Given the description of an element on the screen output the (x, y) to click on. 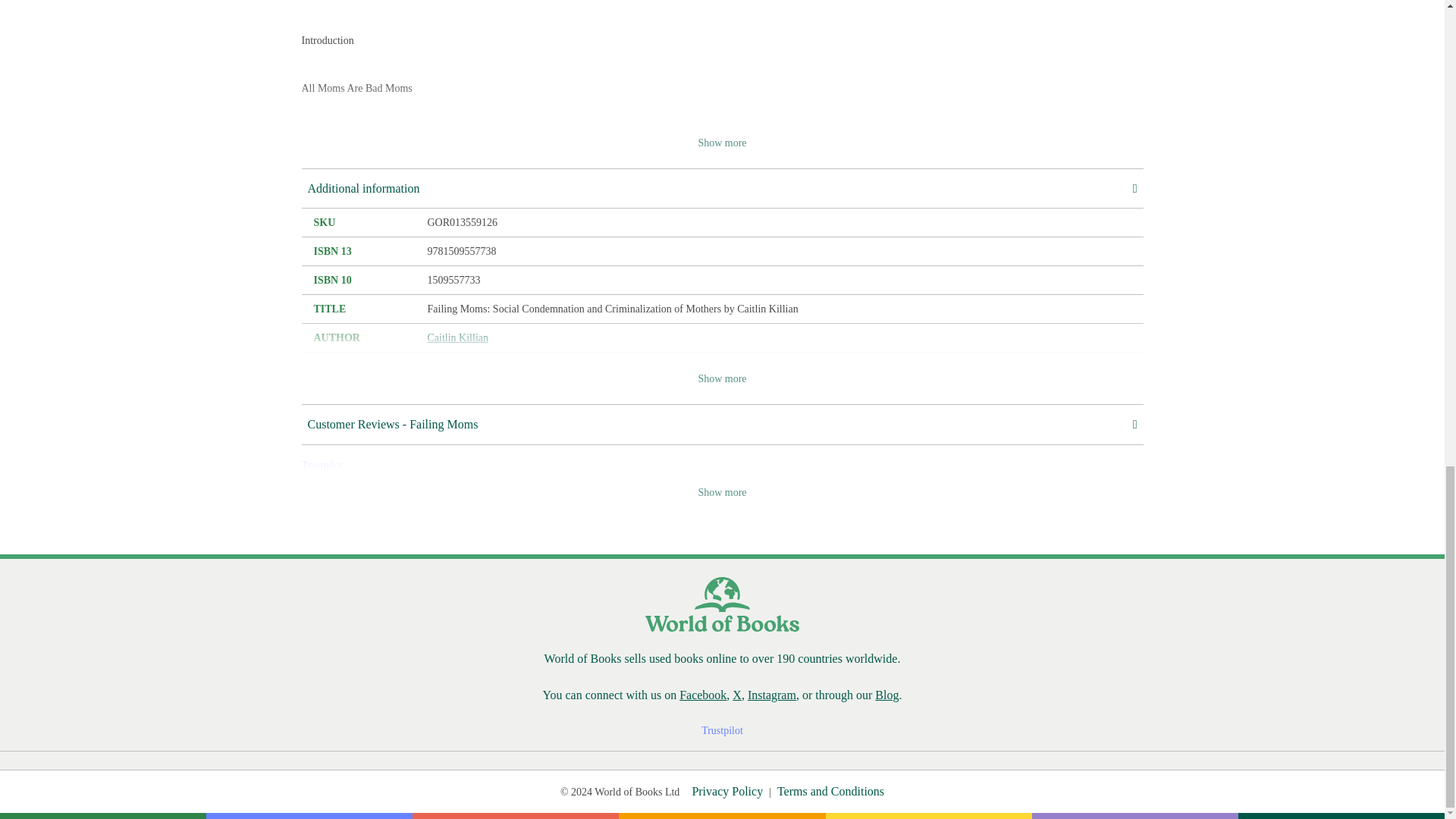
Show more (721, 378)
Caitlin Killian (458, 337)
Show more (721, 492)
Show more (721, 142)
Trustpilot (322, 464)
